Given the description of an element on the screen output the (x, y) to click on. 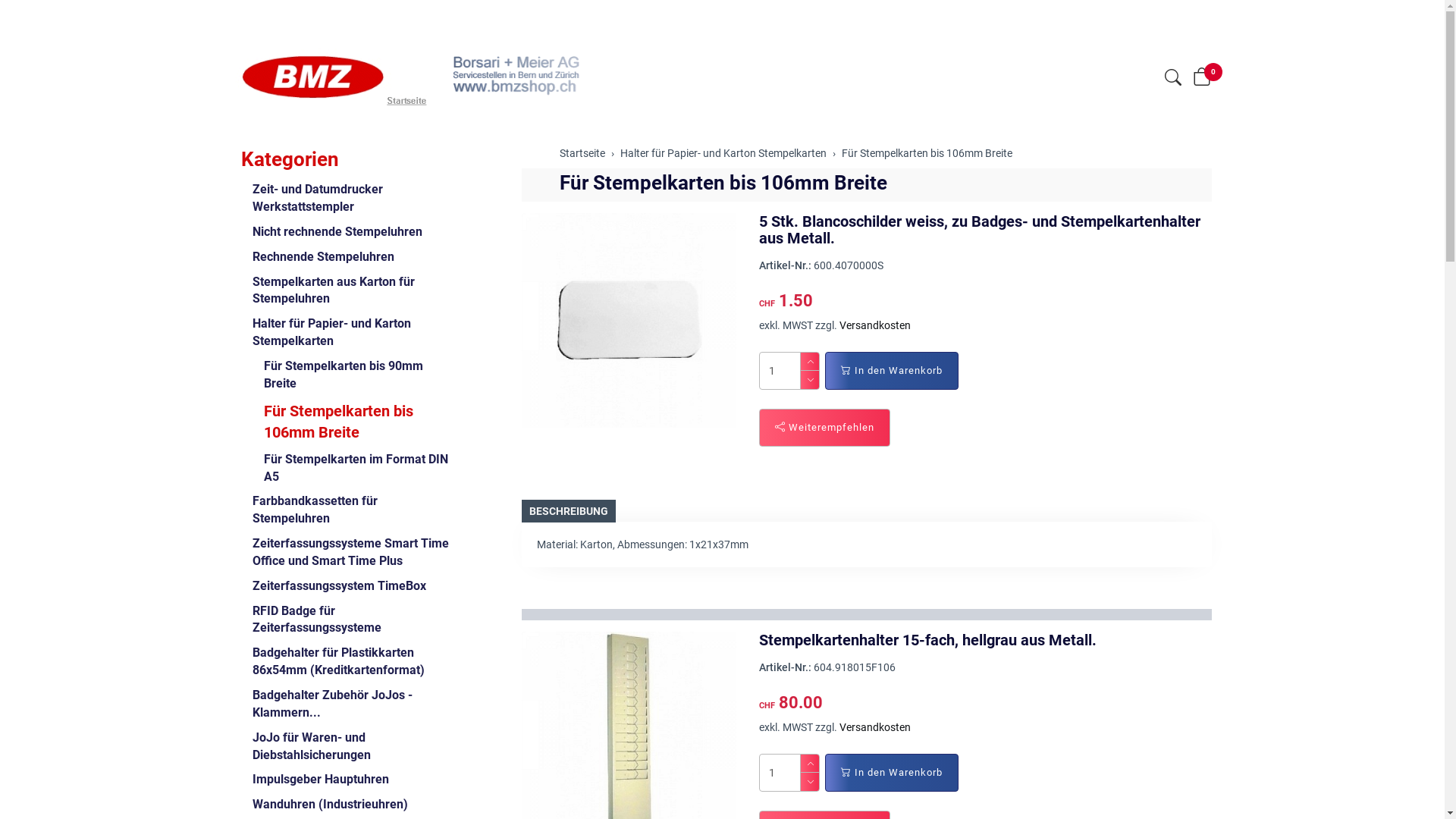
In den Warenkorb Element type: text (891, 370)
0 Element type: text (1201, 78)
In den Warenkorb Element type: text (891, 772)
Startseite Element type: text (582, 153)
Menge Element type: hover (779, 772)
Menge Element type: hover (779, 370)
Impulsgeber Hauptuhren Element type: text (347, 779)
Zeiterfassungssysteme Smart Time Office und Smart Time Plus Element type: text (347, 552)
Zeiterfassungssystem TimeBox Element type: text (347, 586)
BESCHREIBUNG Element type: text (568, 510)
Suche Element type: hover (1172, 78)
Zeit- und Datumdrucker Werkstattstempler Element type: text (347, 198)
Weiterempfehlen Element type: text (824, 427)
Nicht rechnende Stempeluhren Element type: text (347, 231)
Versandkosten Element type: text (874, 325)
Versandkosten Element type: text (874, 727)
Wanduhren (Industrieuhren) Element type: text (347, 804)
Rechnende Stempeluhren Element type: text (347, 256)
